Given the description of an element on the screen output the (x, y) to click on. 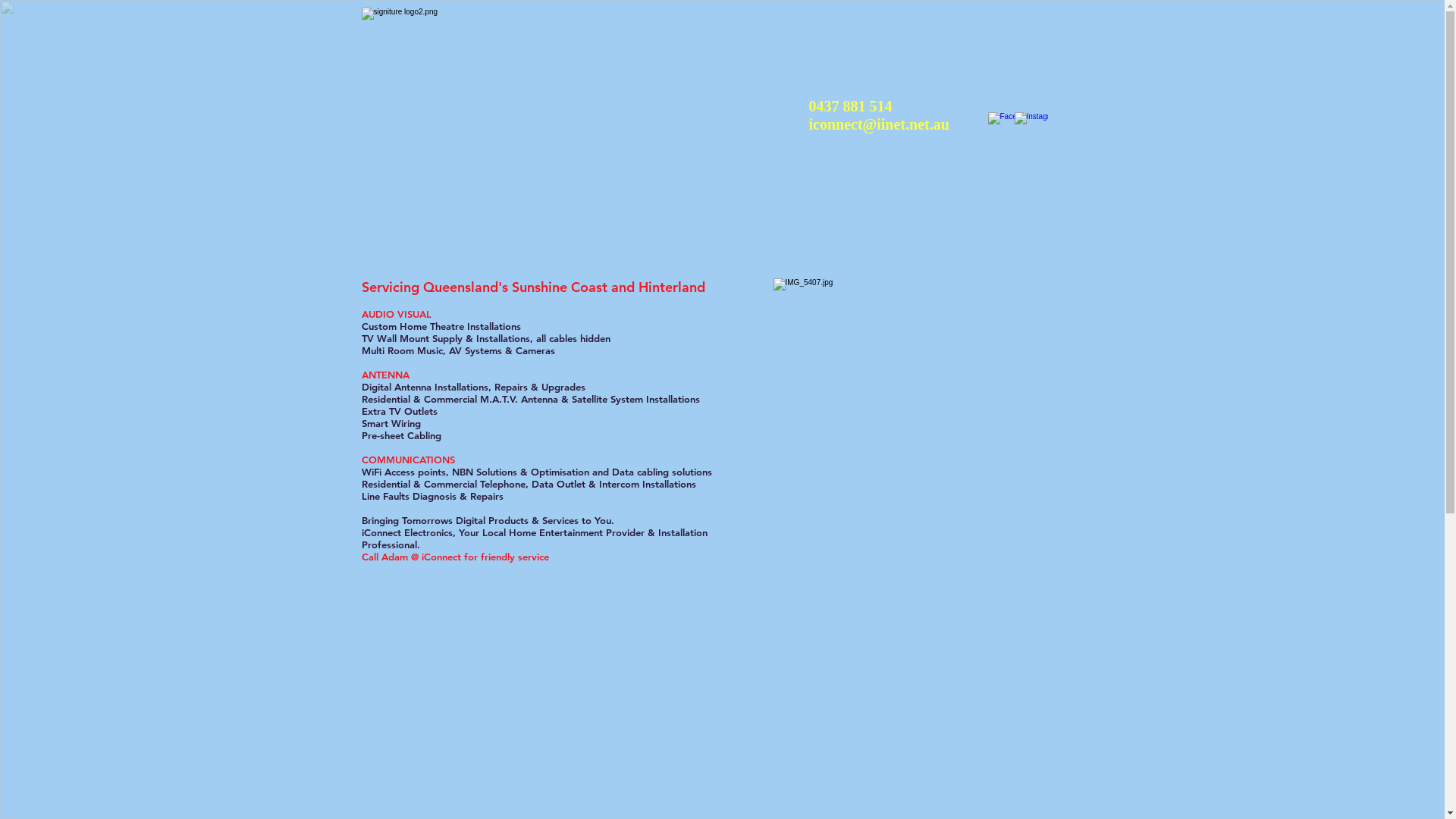
iconnect@iinet.net.au  Element type: text (880, 124)
0437 881 514 Element type: text (849, 105)
